Given the description of an element on the screen output the (x, y) to click on. 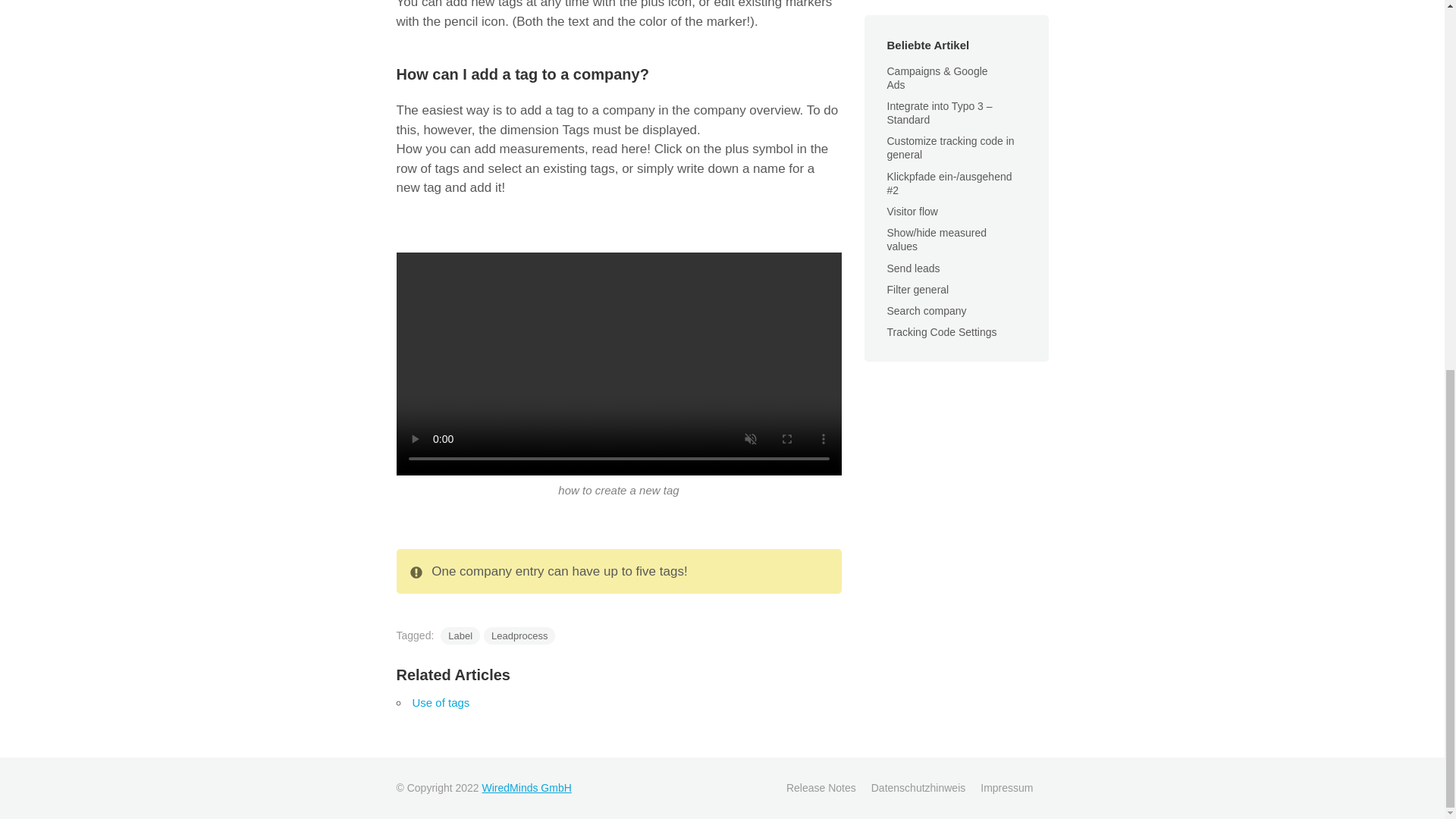
Leadprocess (518, 635)
Datenschutzhinweis (918, 787)
Use of tags (441, 702)
Impressum (1005, 787)
WiredMinds GmbH (526, 787)
Release Notes (821, 787)
Label (460, 635)
